Given the description of an element on the screen output the (x, y) to click on. 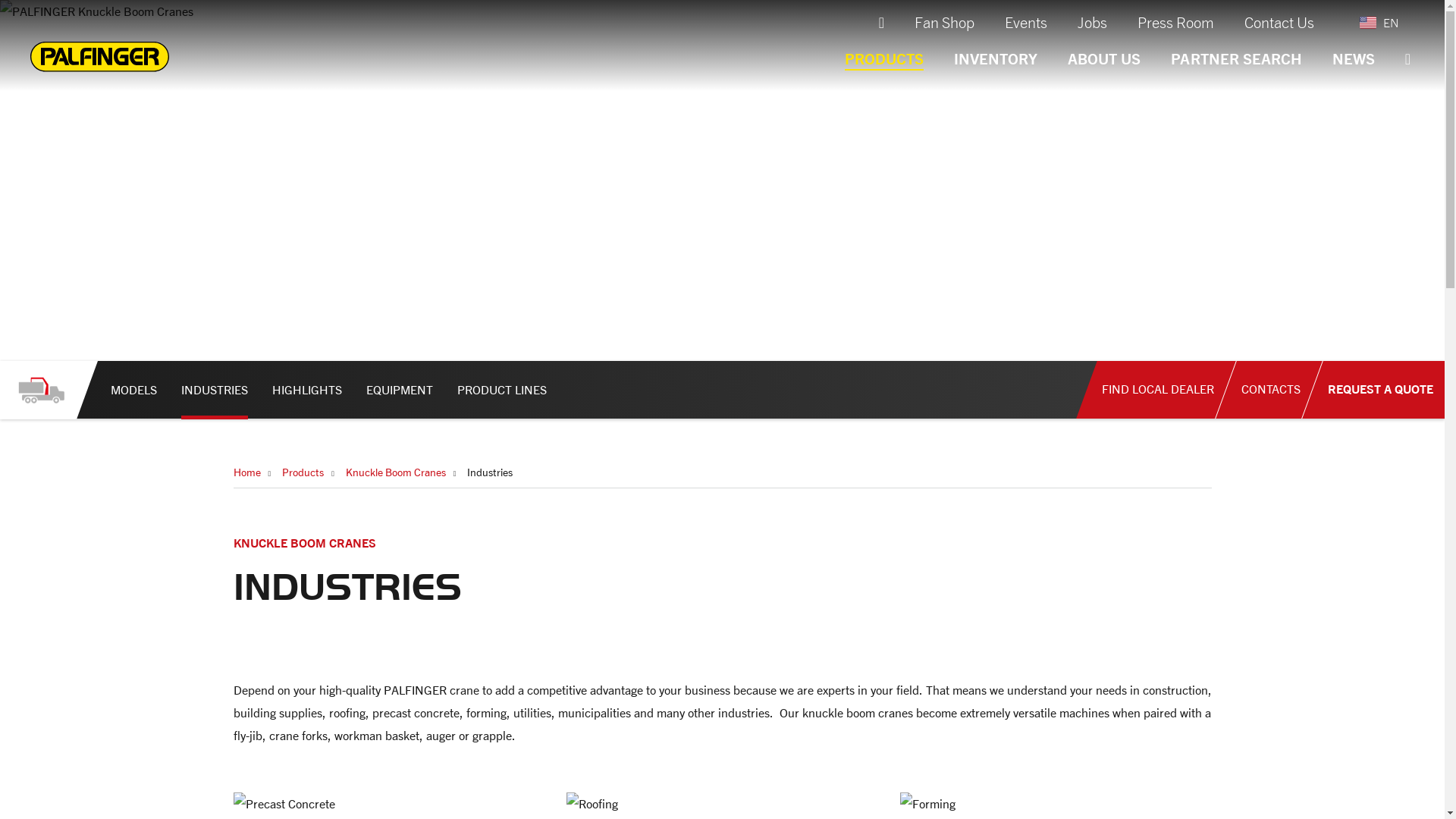
Fan Shop (944, 20)
Events (1025, 20)
Press Room (1175, 20)
Press Room (1175, 20)
Jobs (1091, 20)
Events (1025, 20)
Contact Us (1279, 20)
EN (1376, 22)
Contact Us (1279, 20)
Jobs (1091, 20)
